Given the description of an element on the screen output the (x, y) to click on. 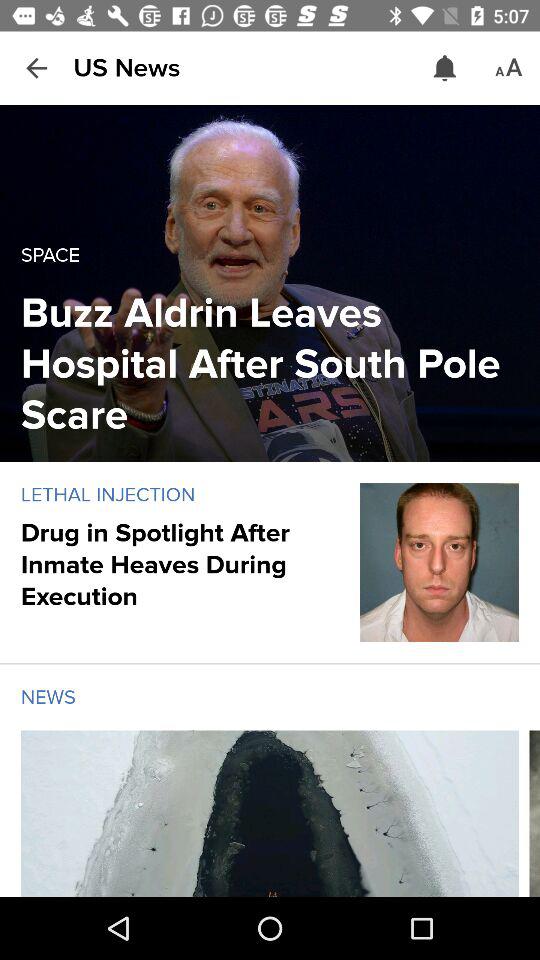
next news (534, 813)
